Given the description of an element on the screen output the (x, y) to click on. 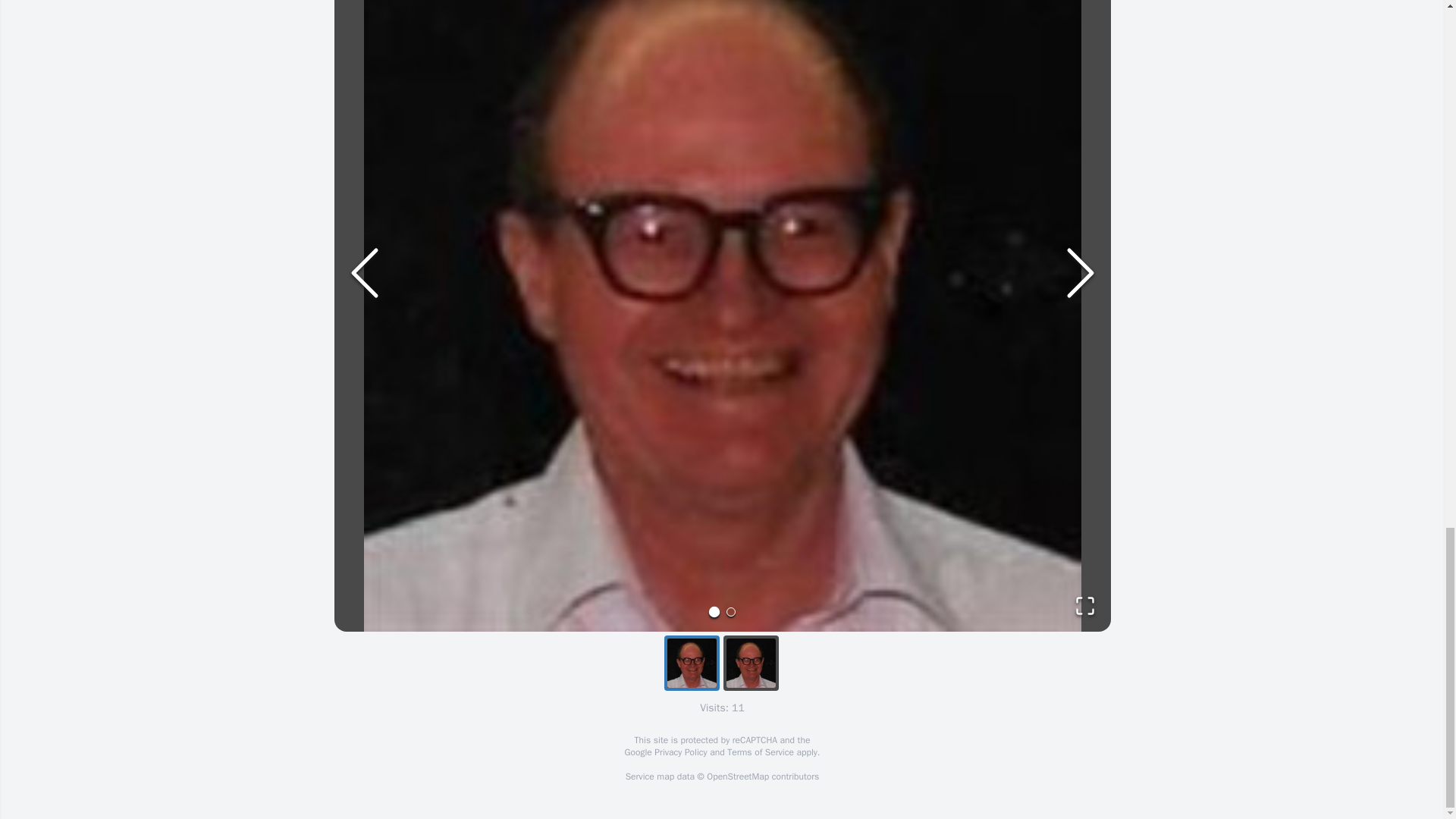
Privacy Policy (679, 752)
Terms of Service (759, 752)
OpenStreetMap (737, 776)
